Given the description of an element on the screen output the (x, y) to click on. 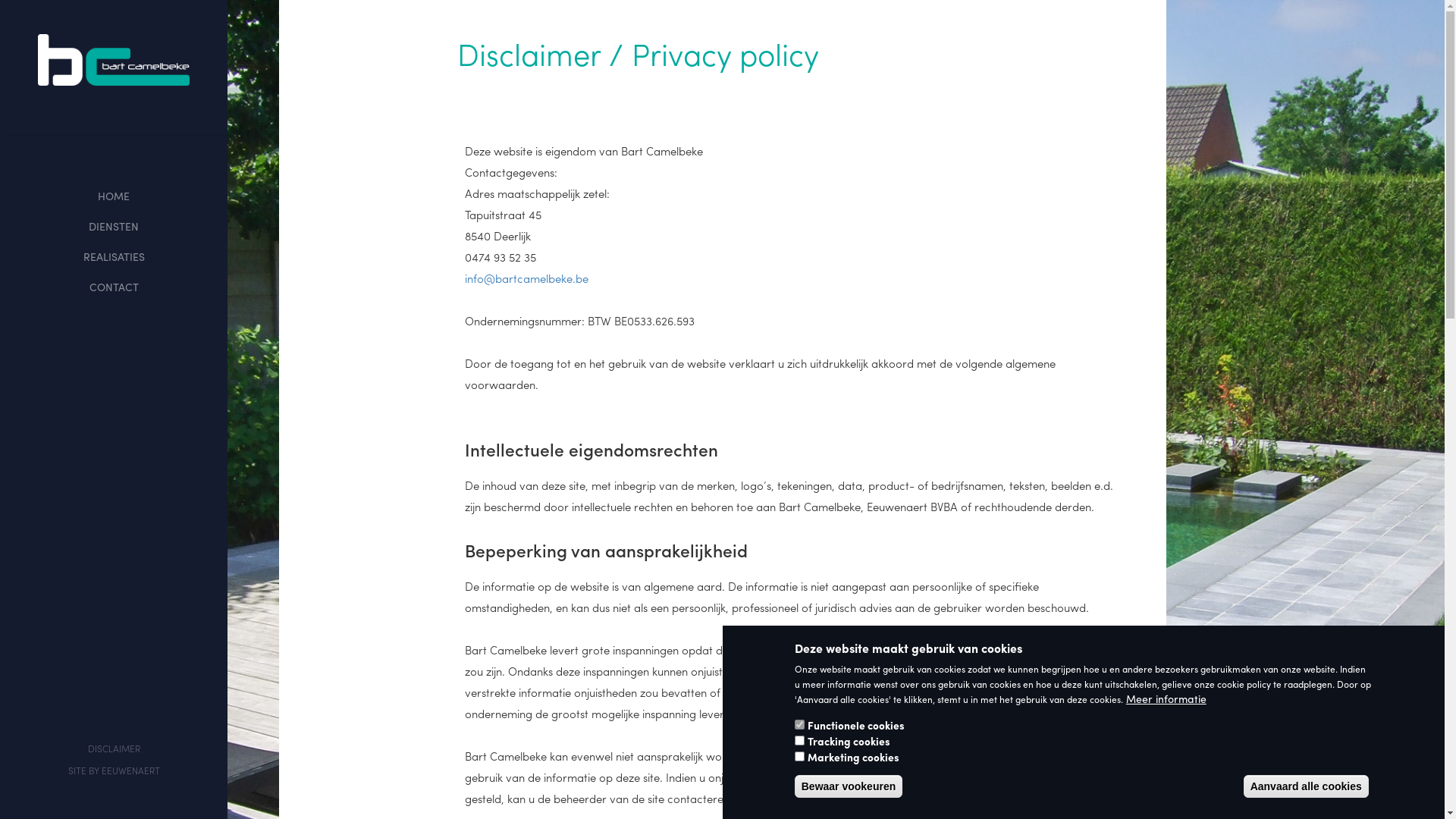
SITE BY EEUWENAERT Element type: text (114, 770)
info@bartcamelbeke.be Element type: text (525, 277)
REALISATIES Element type: text (113, 256)
Meer informatie Element type: text (1166, 698)
DISCLAIMER Element type: text (113, 748)
CONTACT Element type: text (113, 286)
Home Element type: hover (113, 59)
HOME Element type: text (113, 195)
DIENSTEN Element type: text (113, 225)
Aanvaard alle cookies Element type: text (1305, 786)
Overslaan en naar de inhoud gaan Element type: text (0, 0)
Bewaar vookeuren Element type: text (848, 786)
